Given the description of an element on the screen output the (x, y) to click on. 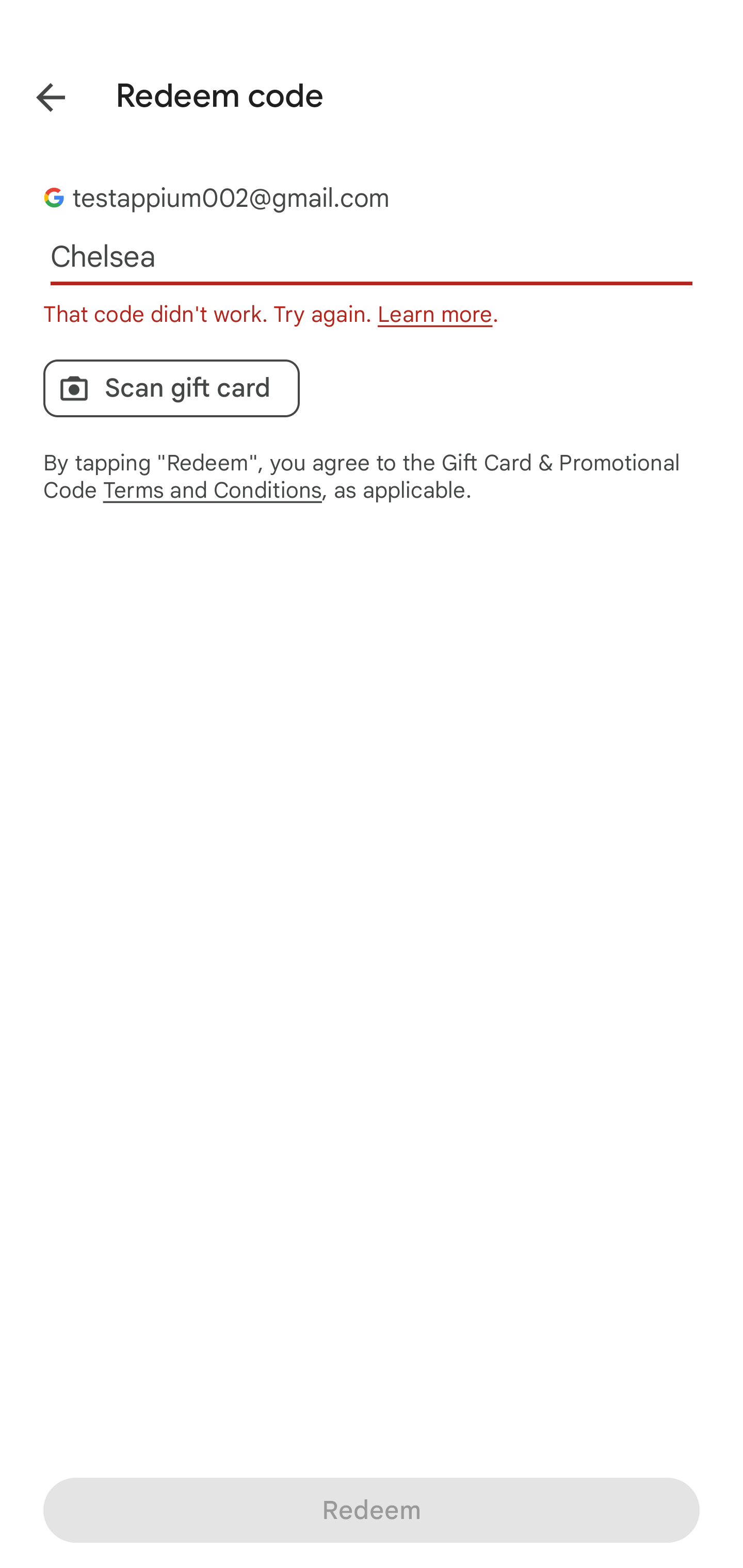
Back (36, 94)
Chelsea (371, 256)
Scan gift card (171, 388)
